Given the description of an element on the screen output the (x, y) to click on. 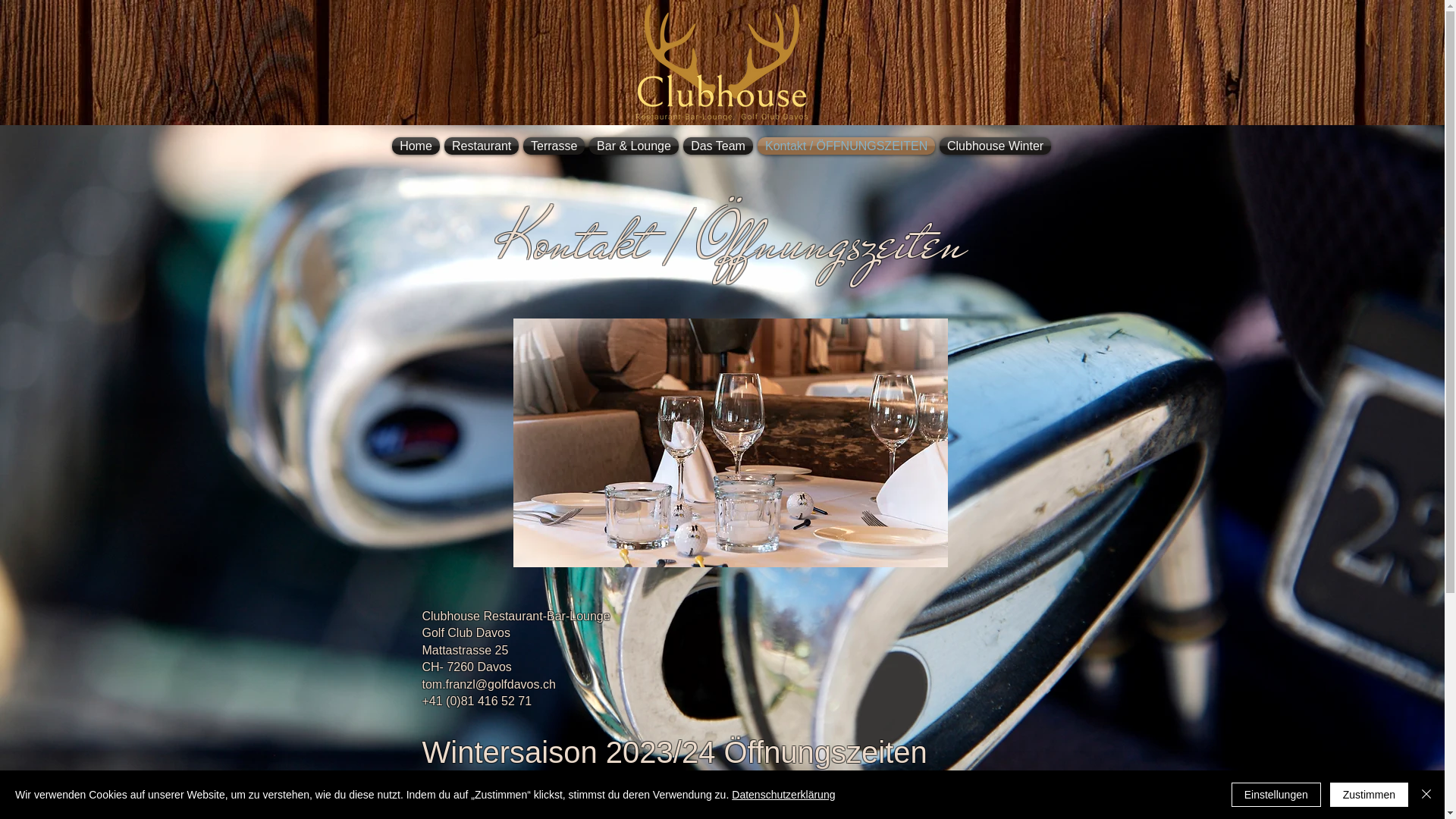
tom.franzl@golfdavos.ch Element type: text (488, 683)
Das Team Element type: text (717, 145)
Zustimmen Element type: text (1369, 794)
Bar & Lounge Element type: text (633, 145)
Terrasse Element type: text (553, 145)
Restaurant Element type: text (481, 145)
Home Element type: text (415, 145)
Einstellungen Element type: text (1276, 794)
Clubhouse Winter Element type: text (995, 145)
